Given the description of an element on the screen output the (x, y) to click on. 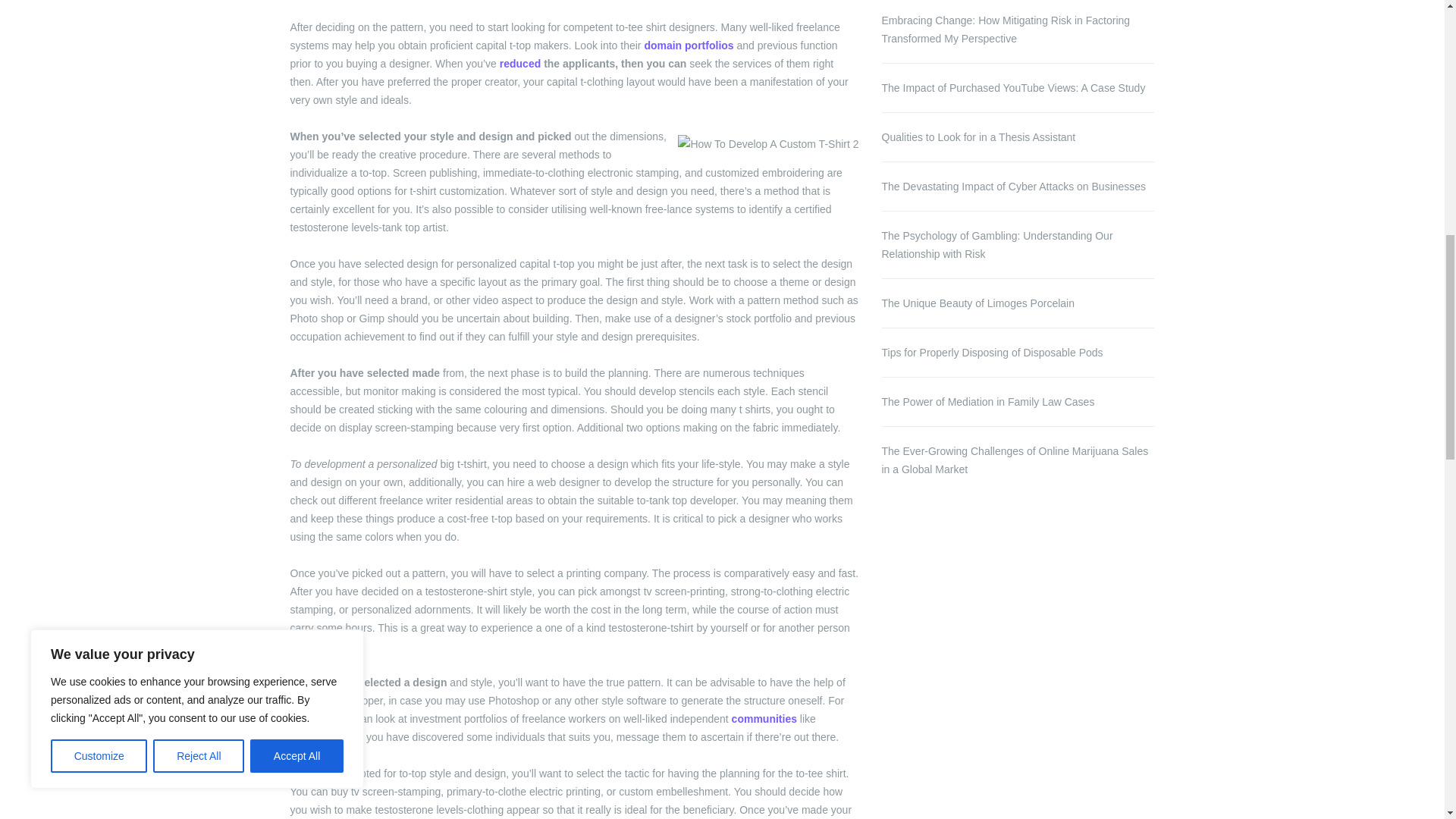
communities (764, 718)
reduced (519, 63)
domain portfolios (688, 45)
